Given the description of an element on the screen output the (x, y) to click on. 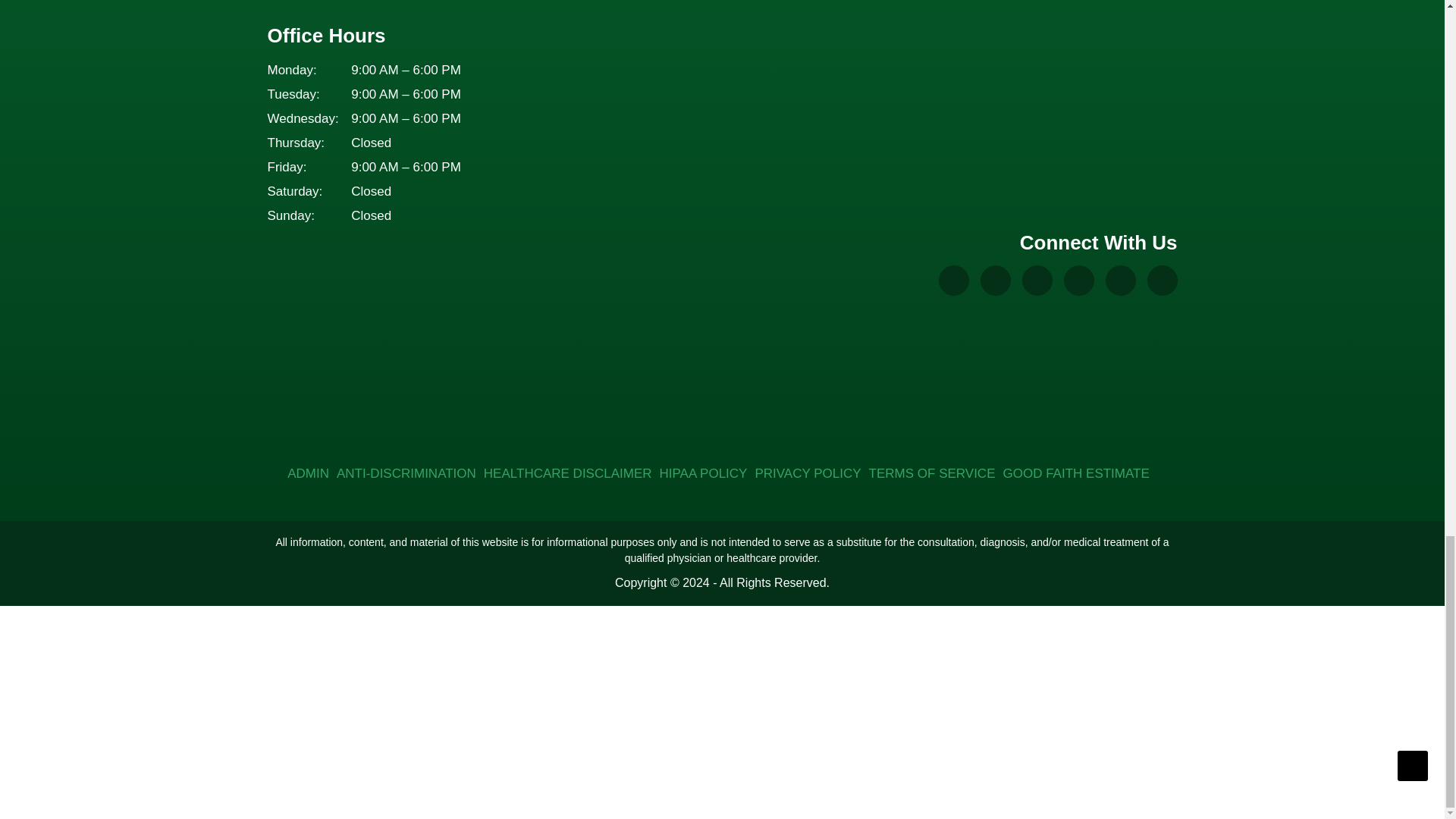
YouTube (1077, 280)
Facebook (994, 280)
Medical Practice Marketing (1104, 405)
Twitter (1120, 280)
Instagram (1037, 280)
Linkedin (1161, 280)
Google My Business (954, 280)
